Given the description of an element on the screen output the (x, y) to click on. 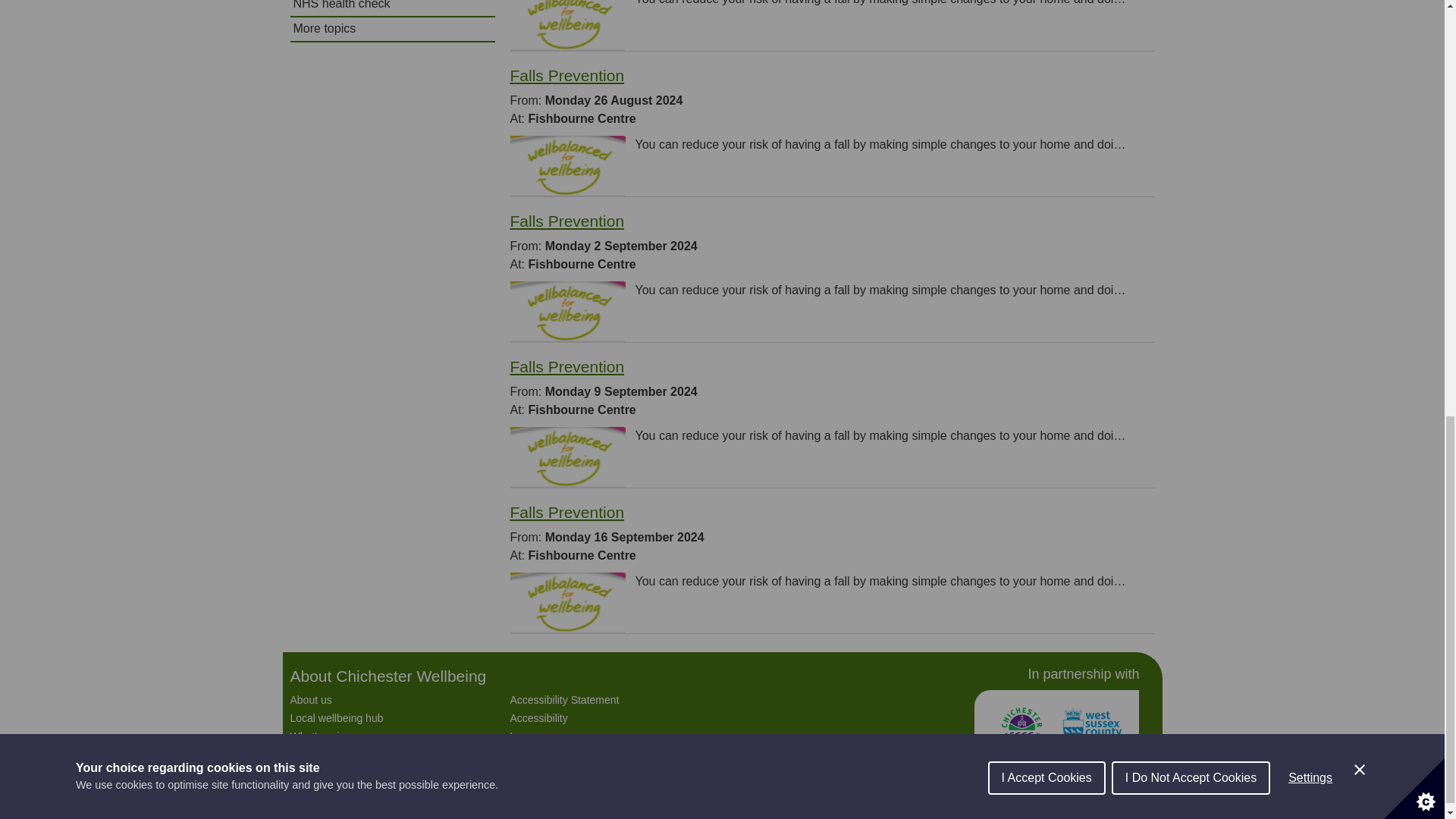
Falls Prevention (566, 221)
Falls Prevention (566, 366)
Falls Prevention (566, 511)
Falls Prevention (566, 75)
